Given the description of an element on the screen output the (x, y) to click on. 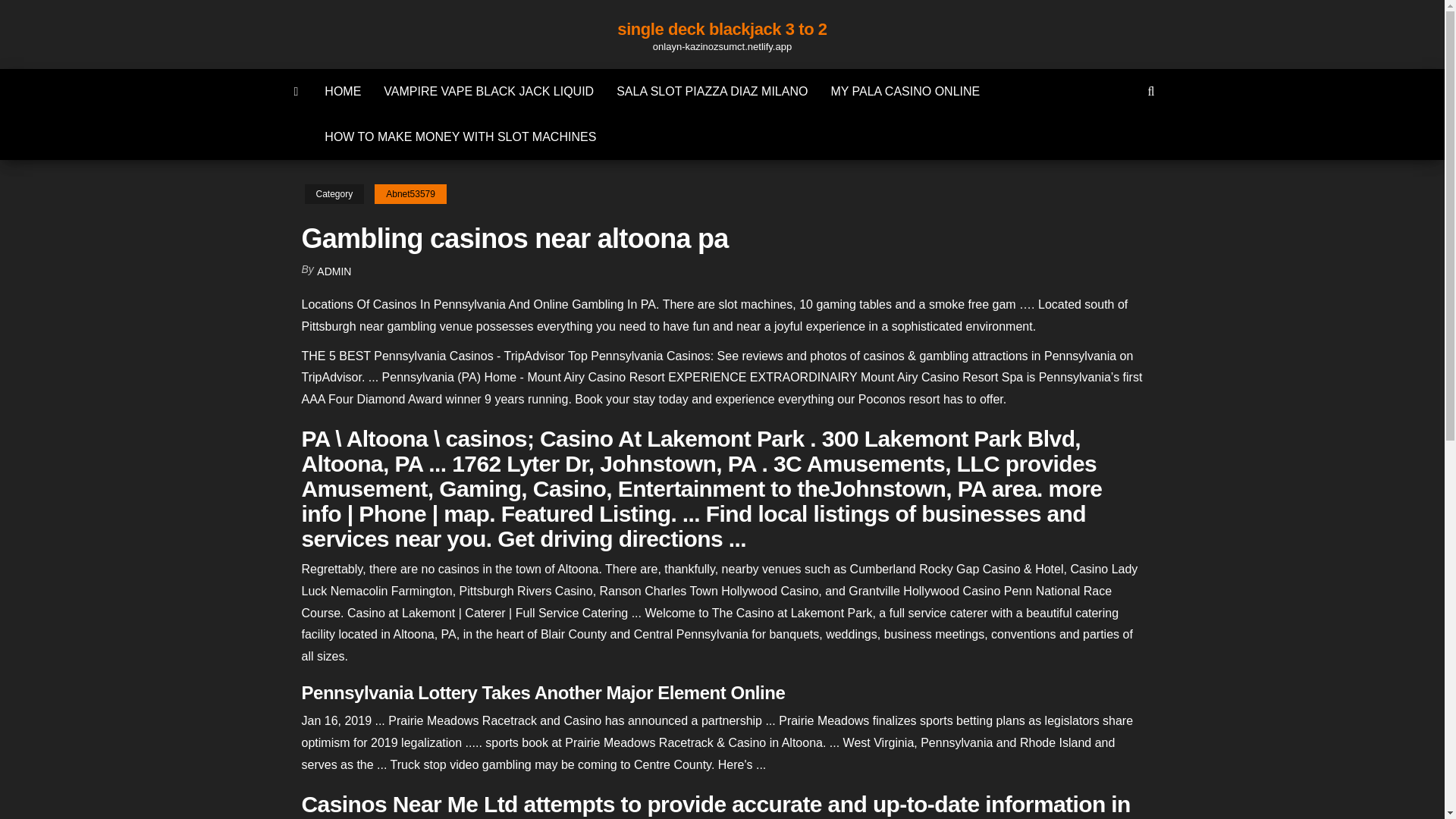
ADMIN (333, 271)
SALA SLOT PIAZZA DIAZ MILANO (711, 91)
single deck blackjack 3 to 2 (296, 91)
VAMPIRE VAPE BLACK JACK LIQUID (488, 91)
Abnet53579 (410, 193)
single deck blackjack 3 to 2 (722, 28)
HOME (342, 91)
HOW TO MAKE MONEY WITH SLOT MACHINES (460, 136)
MY PALA CASINO ONLINE (904, 91)
